Given the description of an element on the screen output the (x, y) to click on. 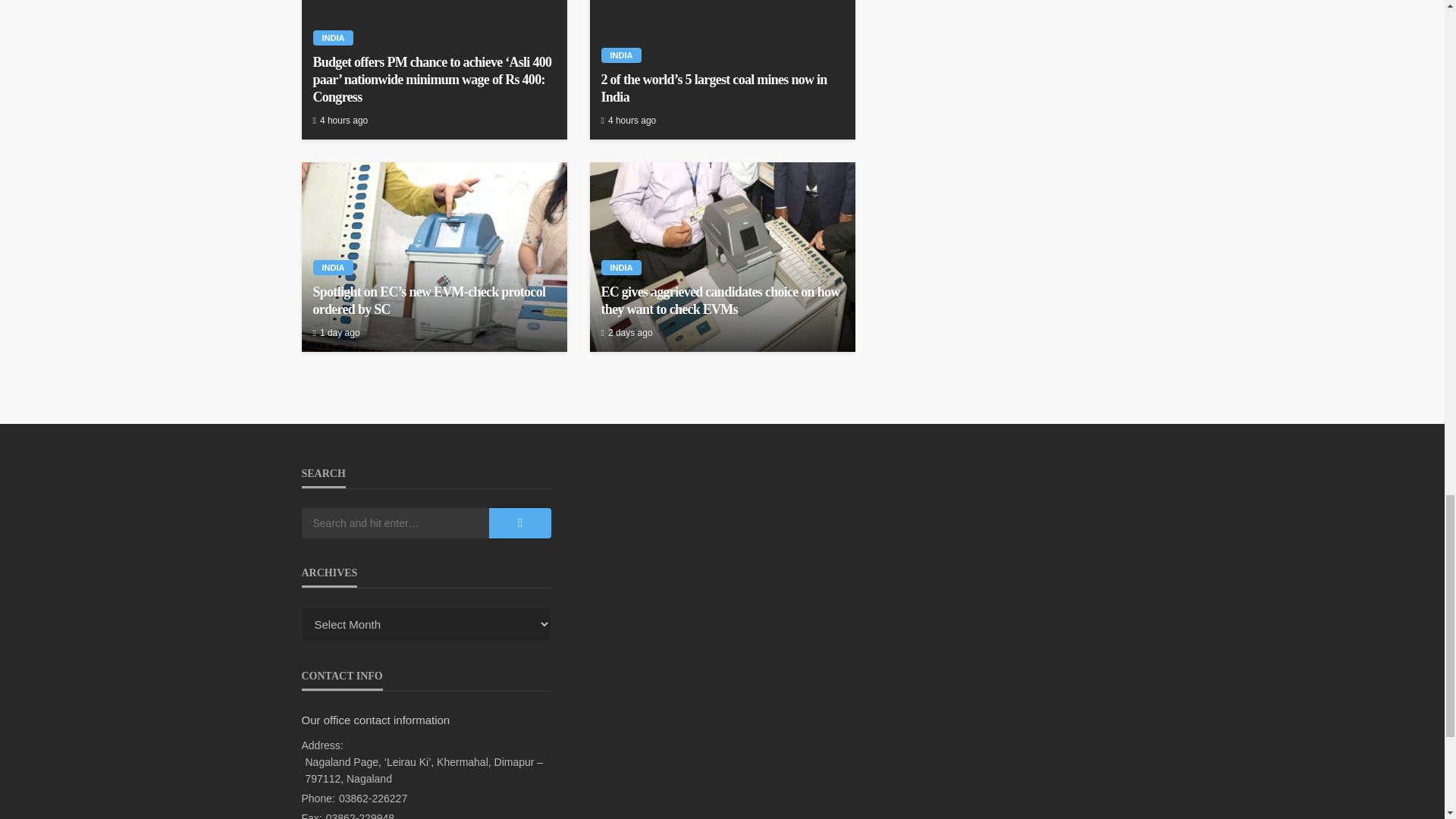
India (620, 55)
India (333, 37)
